Given the description of an element on the screen output the (x, y) to click on. 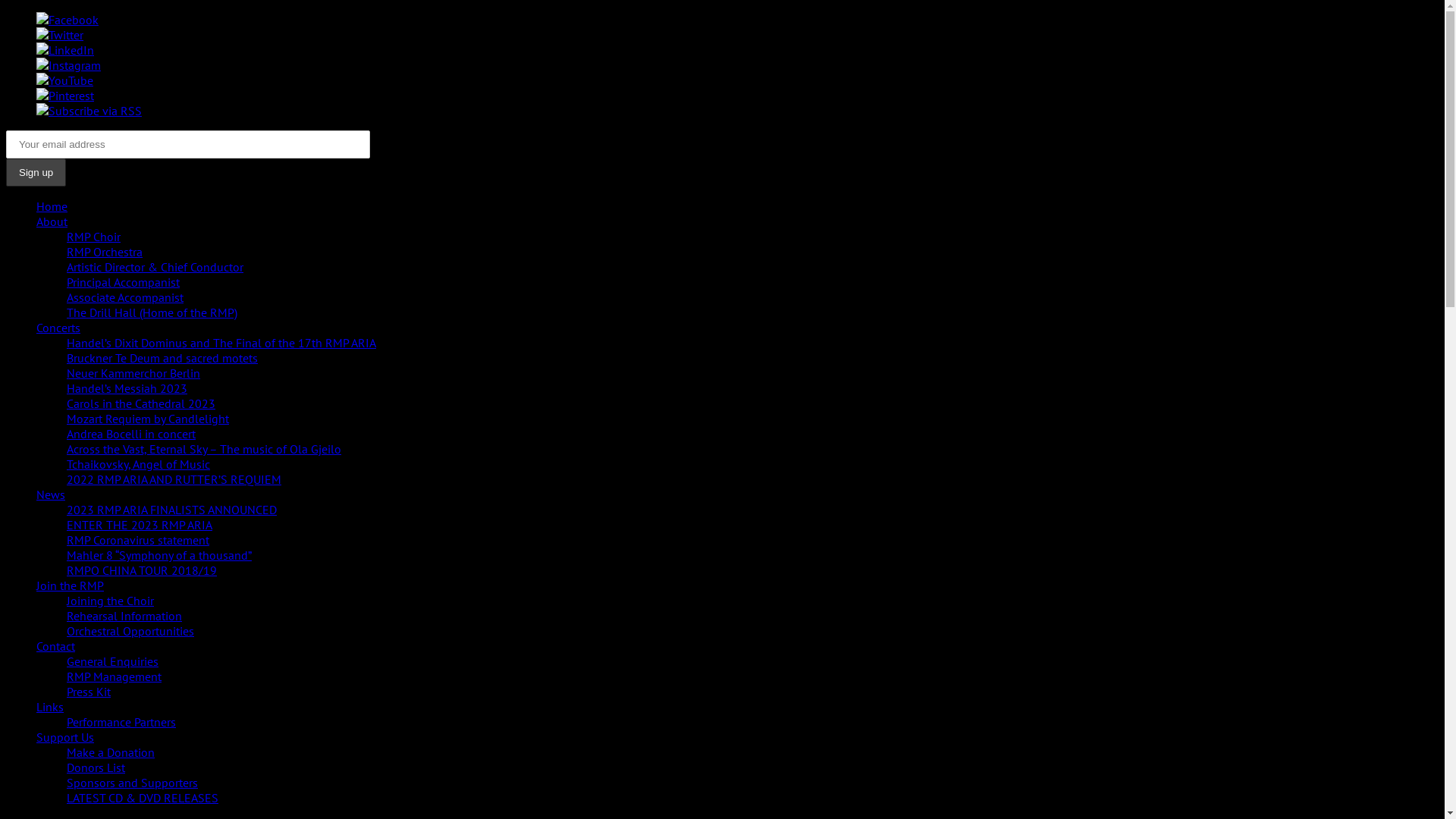
Sign up Element type: text (35, 172)
RMP Choir Element type: text (93, 236)
Donors List Element type: text (95, 767)
Twitter Element type: hover (59, 34)
Concerts Element type: text (58, 327)
Andrea Bocelli in concert Element type: text (130, 433)
RMP Orchestra Element type: text (104, 251)
Joining the Choir Element type: text (109, 600)
Rehearsal Information Element type: text (124, 615)
Bruckner Te Deum and sacred motets Element type: text (161, 357)
Join the RMP Element type: text (69, 585)
Carols in the Cathedral 2023 Element type: text (140, 403)
Artistic Director & Chief Conductor Element type: text (154, 266)
Performance Partners Element type: text (120, 721)
Press Kit Element type: text (88, 691)
About Element type: text (51, 221)
YouTube Element type: hover (64, 79)
Support Us Element type: text (65, 736)
Pinterest Element type: hover (65, 95)
Principal Accompanist Element type: text (122, 281)
Make a Donation Element type: text (110, 751)
Subscribe via RSS Element type: hover (88, 110)
RMP Coronavirus statement Element type: text (137, 539)
Sponsors and Supporters Element type: text (131, 782)
Tchaikovsky, Angel of Music Element type: text (138, 463)
General Enquiries Element type: text (112, 660)
LinkedIn Element type: hover (65, 49)
The Drill Hall (Home of the RMP) Element type: text (151, 312)
Associate Accompanist Element type: text (124, 296)
Orchestral Opportunities Element type: text (130, 630)
News Element type: text (50, 494)
Neuer Kammerchor Berlin Element type: text (133, 372)
Facebook Element type: hover (67, 19)
ENTER THE 2023 RMP ARIA Element type: text (139, 524)
Contact Element type: text (55, 645)
LATEST CD & DVD RELEASES Element type: text (142, 797)
RMPO CHINA TOUR 2018/19 Element type: text (141, 569)
Home Element type: text (51, 205)
Mozart Requiem by Candlelight Element type: text (147, 418)
Instagram Element type: hover (68, 64)
2023 RMP ARIA FINALISTS ANNOUNCED Element type: text (171, 509)
Links Element type: text (49, 706)
RMP Management Element type: text (113, 676)
